Given the description of an element on the screen output the (x, y) to click on. 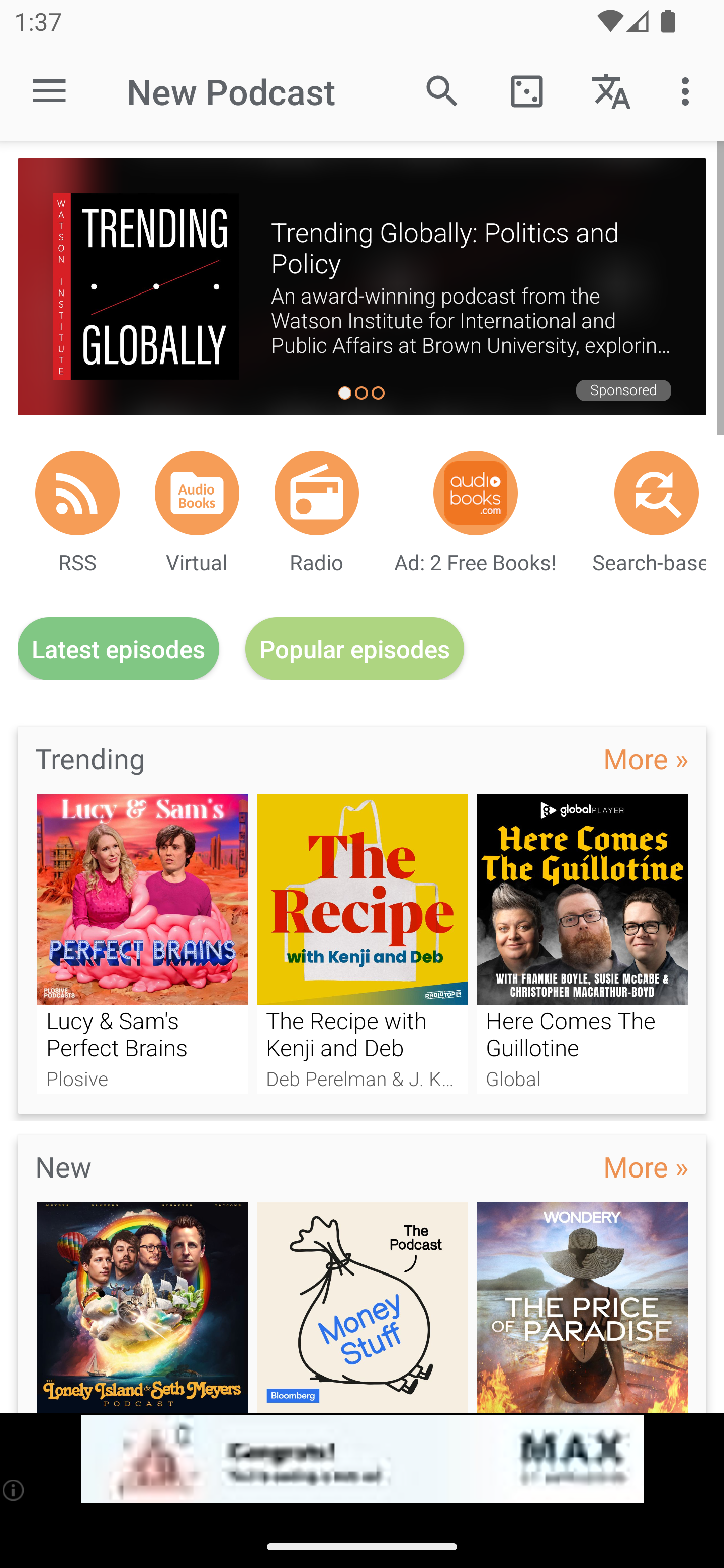
Open navigation sidebar (49, 91)
Search (442, 90)
Random pick (526, 90)
Podcast languages (611, 90)
More options (688, 90)
RSS (77, 492)
Virtual (196, 492)
Radio (316, 492)
Search-based (656, 492)
Latest episodes (118, 648)
Popular episodes (354, 648)
More » (645, 757)
Lucy & Sam's Perfect Brains Plosive (142, 942)
Here Comes The Guillotine Global (581, 942)
More » (645, 1166)
The Lonely Island and Seth Meyers Podcast (142, 1306)
Money Stuff: The Podcast (362, 1306)
The Price of Paradise (581, 1306)
app-monetization (362, 1459)
(i) (14, 1489)
